Given the description of an element on the screen output the (x, y) to click on. 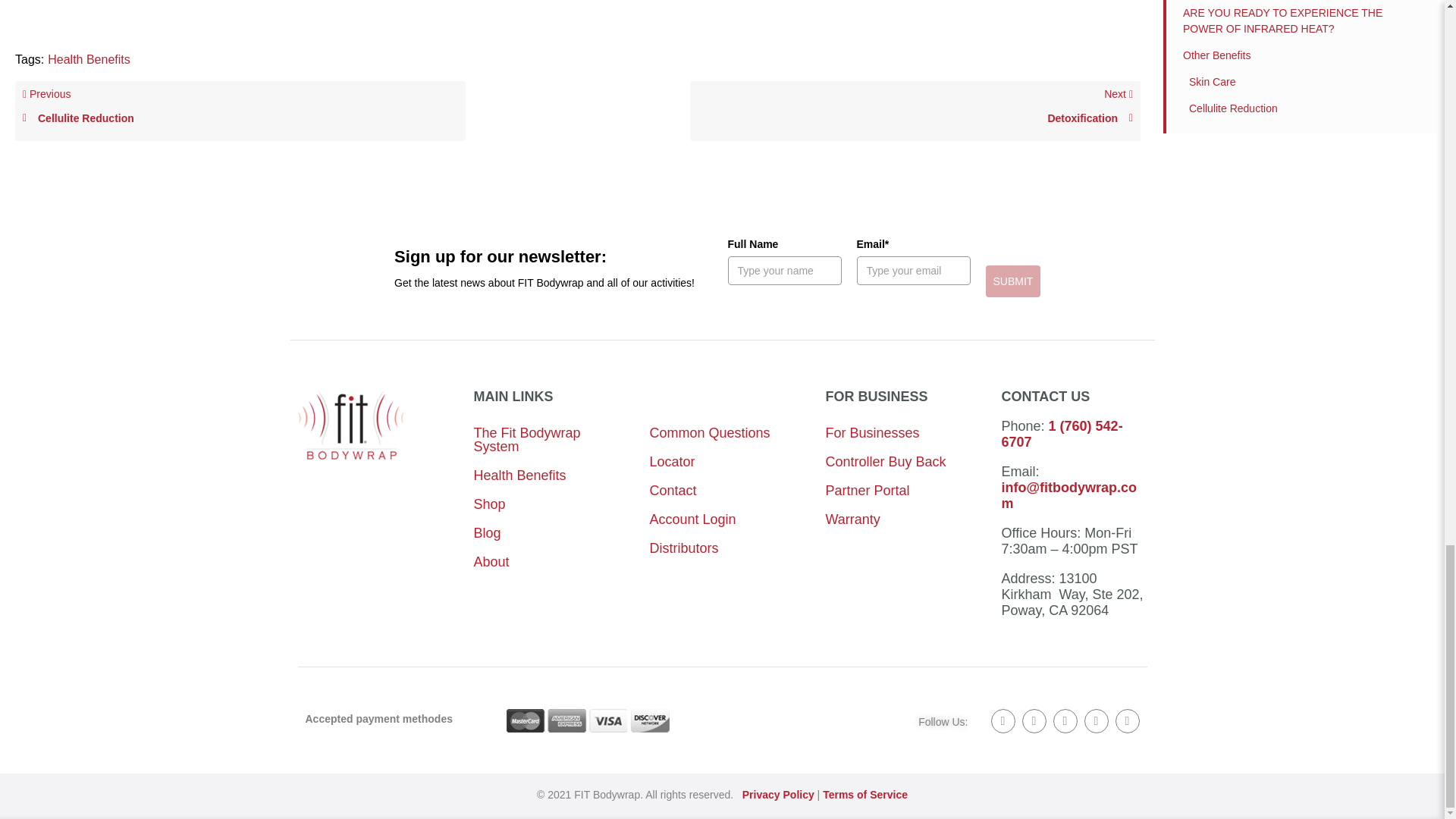
Health Benefits (239, 110)
Cellulite Reduction (89, 59)
Detoxification (915, 110)
